Given the description of an element on the screen output the (x, y) to click on. 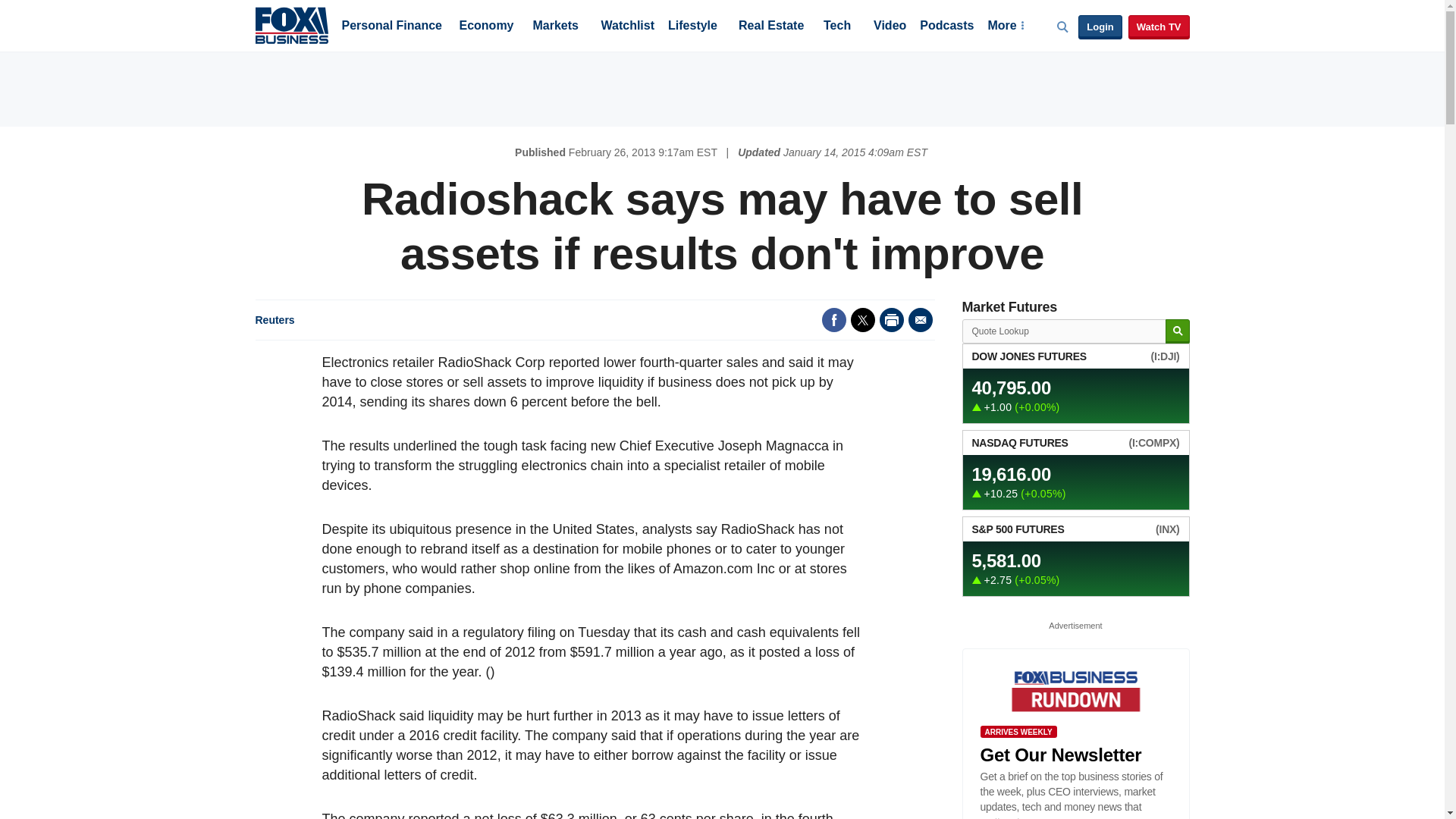
Tech (837, 27)
Podcasts (947, 27)
Search (1176, 331)
Watch TV (1158, 27)
Video (889, 27)
Personal Finance (391, 27)
Fox Business (290, 24)
Economy (486, 27)
Real Estate (770, 27)
Search (1176, 331)
